Given the description of an element on the screen output the (x, y) to click on. 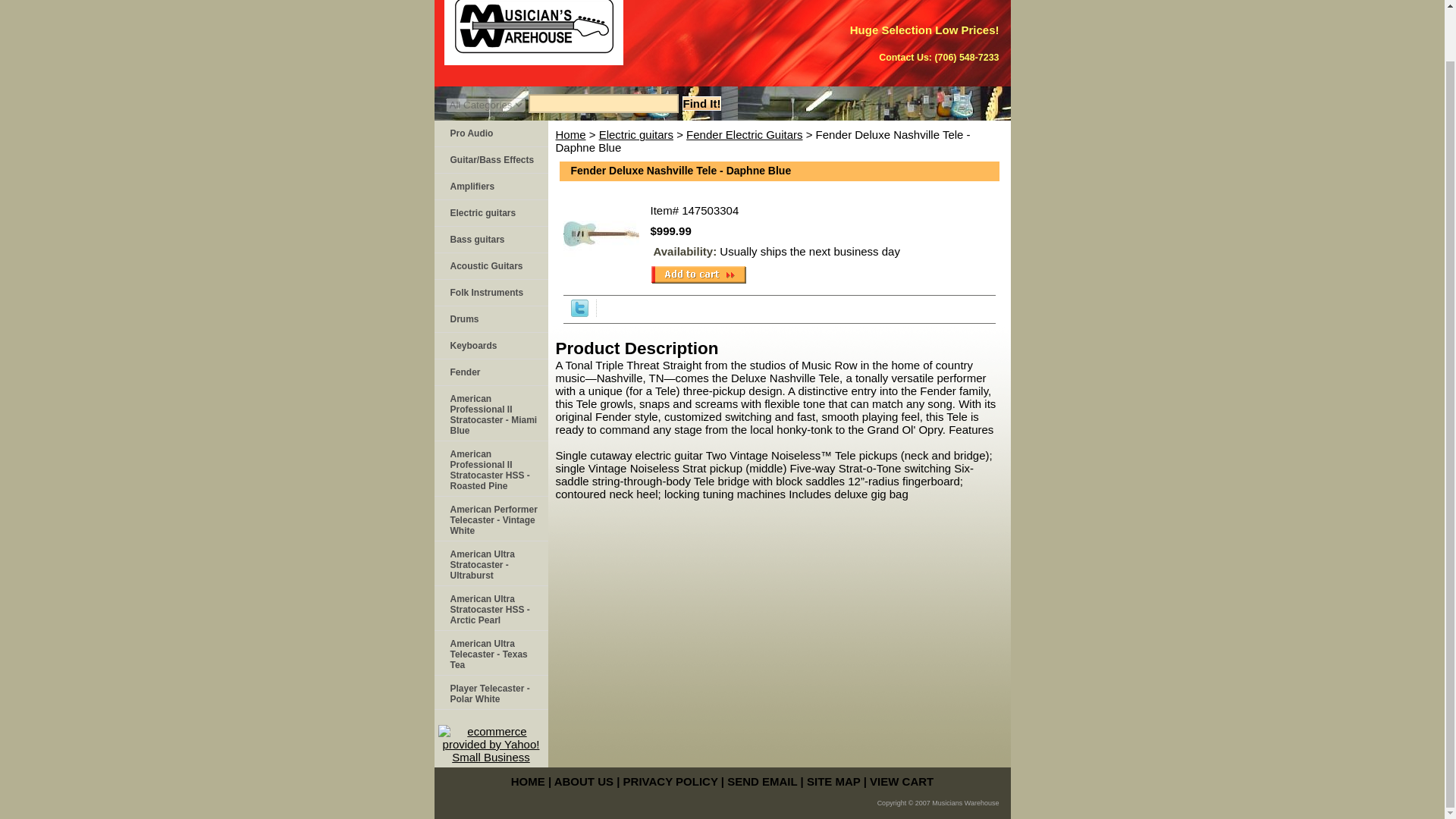
Fender Electric Guitars (743, 133)
Pro Audio (490, 133)
VIEW CART (901, 780)
Folk Instruments (490, 293)
Bass guitars (490, 239)
American Ultra Telecaster - Texas Tea (490, 652)
American Professional II Stratocaster HSS - Roasted Pine (490, 468)
Tweet (579, 312)
American Performer Telecaster - Vintage White (490, 518)
Drums (490, 319)
Amplifiers (490, 186)
PRIVACY POLICY (670, 780)
Keyboards (490, 345)
American Ultra Stratocaster HSS - Arctic Pearl (490, 608)
Find It! (702, 103)
